Given the description of an element on the screen output the (x, y) to click on. 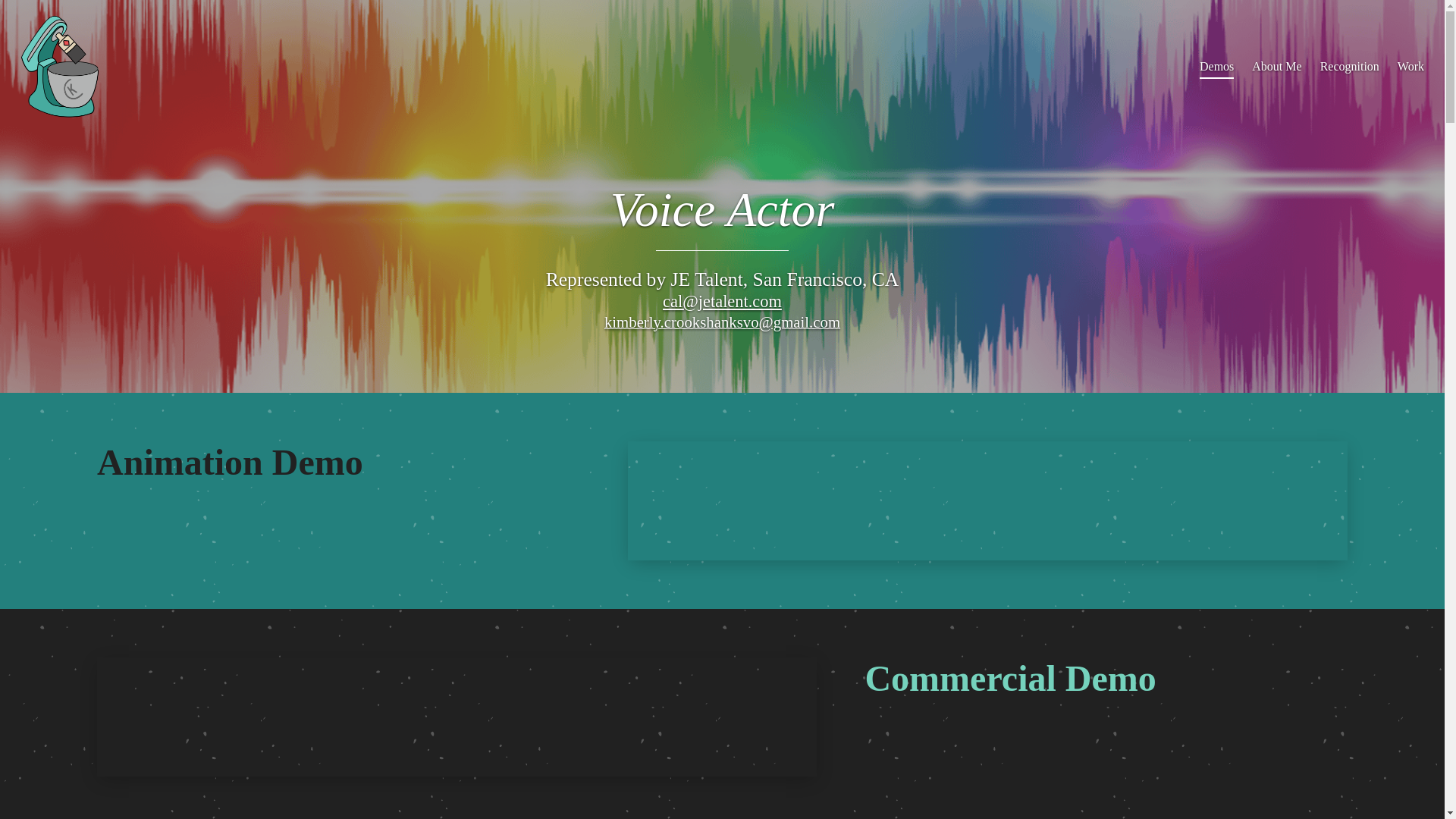
Recognition (1349, 65)
Demos (1216, 65)
About Me (1276, 65)
Work (1410, 65)
